Given the description of an element on the screen output the (x, y) to click on. 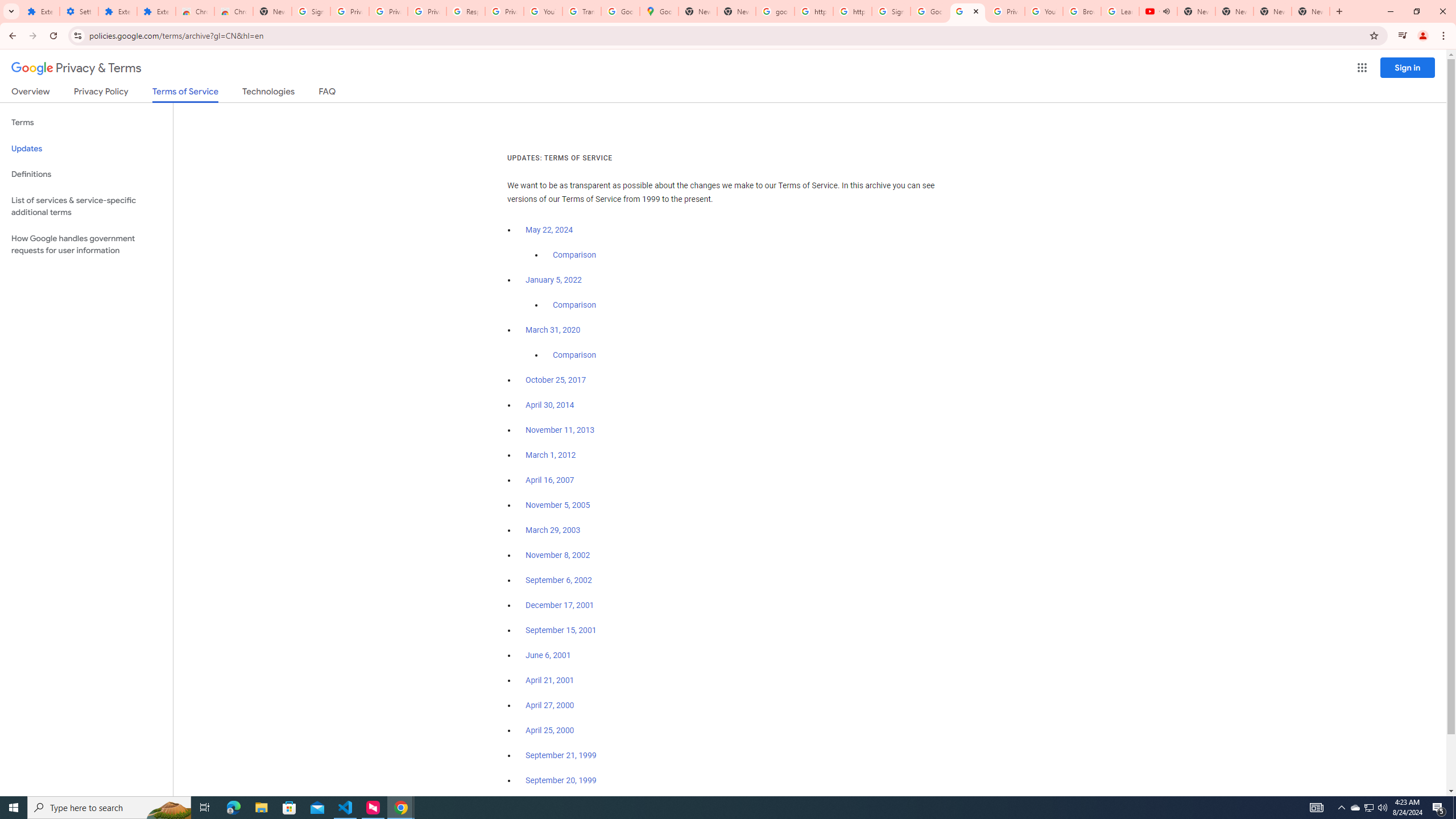
https://scholar.google.com/ (813, 11)
Chrome Web Store - Themes (233, 11)
Browse Chrome as a guest - Computer - Google Chrome Help (1082, 11)
Google Maps (659, 11)
April 27, 2000 (550, 705)
September 6, 2002 (558, 579)
October 25, 2017 (555, 380)
November 11, 2013 (560, 430)
September 15, 2001 (560, 629)
Extensions (156, 11)
November 5, 2005 (557, 505)
